Given the description of an element on the screen output the (x, y) to click on. 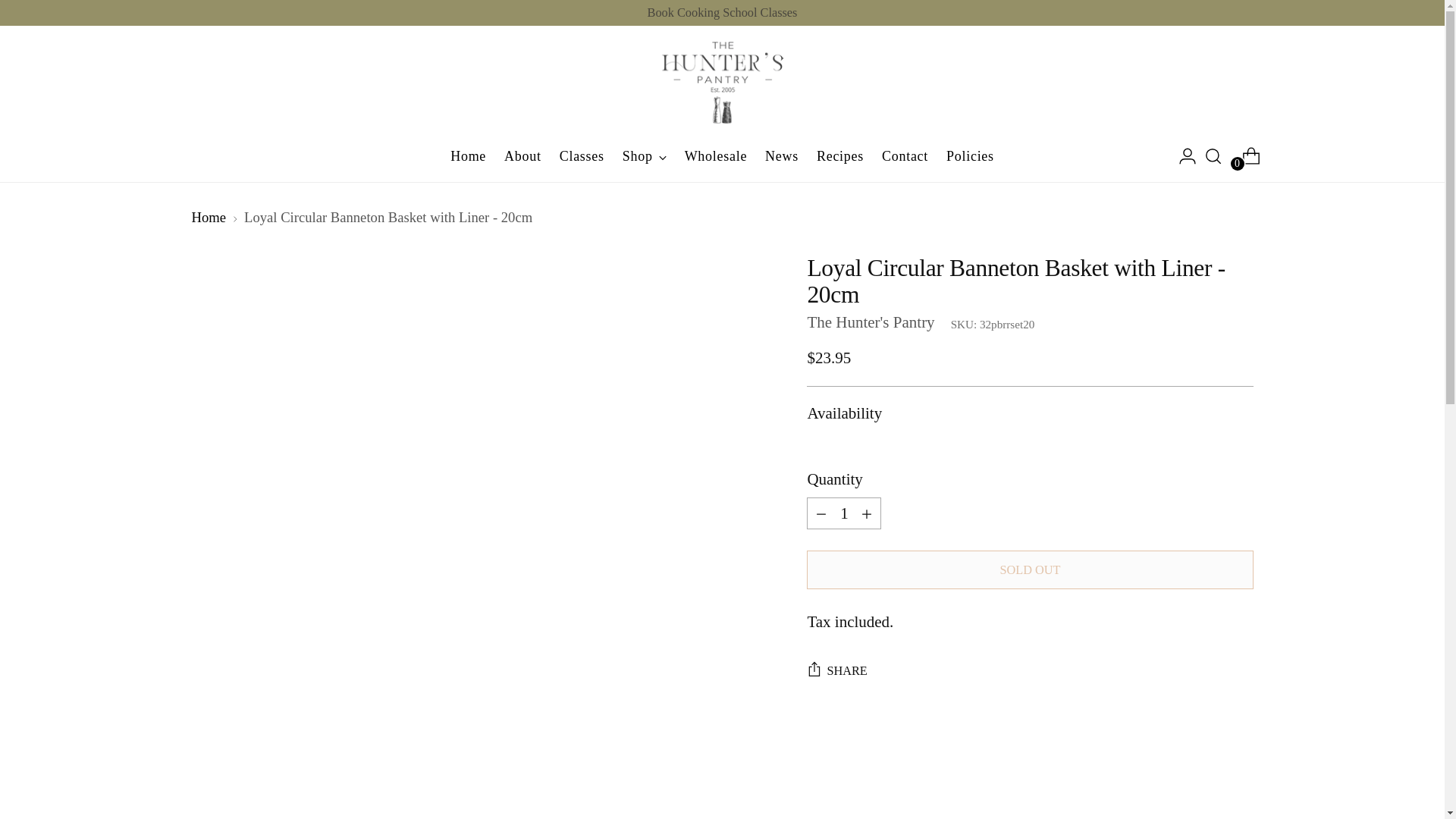
The Hunter's Pantry (870, 321)
Policies (970, 155)
Contact (905, 155)
Classes (581, 155)
1 (843, 512)
Book Cooking School Classes (722, 13)
About (522, 155)
Recipes (839, 155)
News (781, 155)
